Given the description of an element on the screen output the (x, y) to click on. 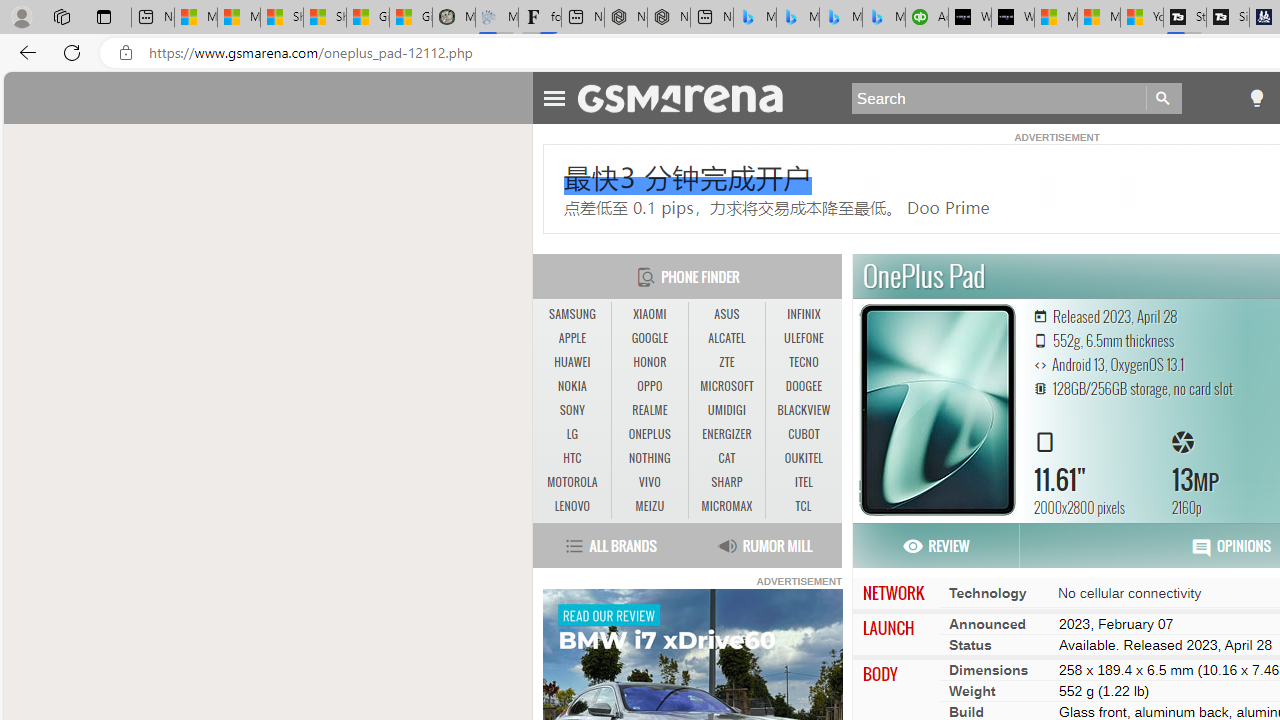
ASUS (726, 314)
NOTHING (649, 458)
SAMSUNG (571, 313)
ZTE (726, 362)
MEIZU (649, 506)
XIAOMI (649, 314)
VIVO (649, 482)
Shanghai, China weather forecast | Microsoft Weather (324, 17)
HTC (571, 457)
